Given the description of an element on the screen output the (x, y) to click on. 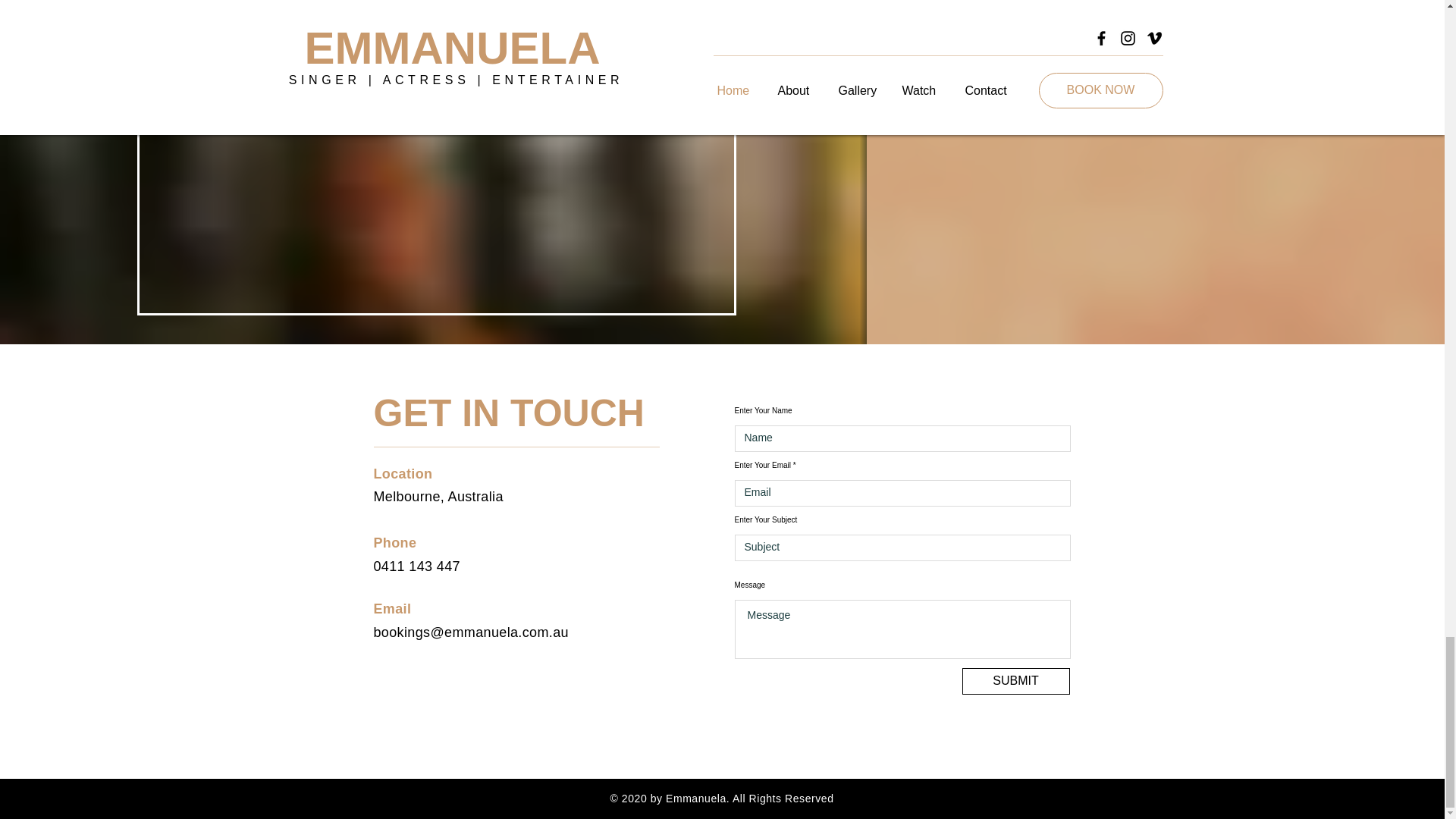
SUBMIT (1014, 681)
Email (391, 608)
